Given the description of an element on the screen output the (x, y) to click on. 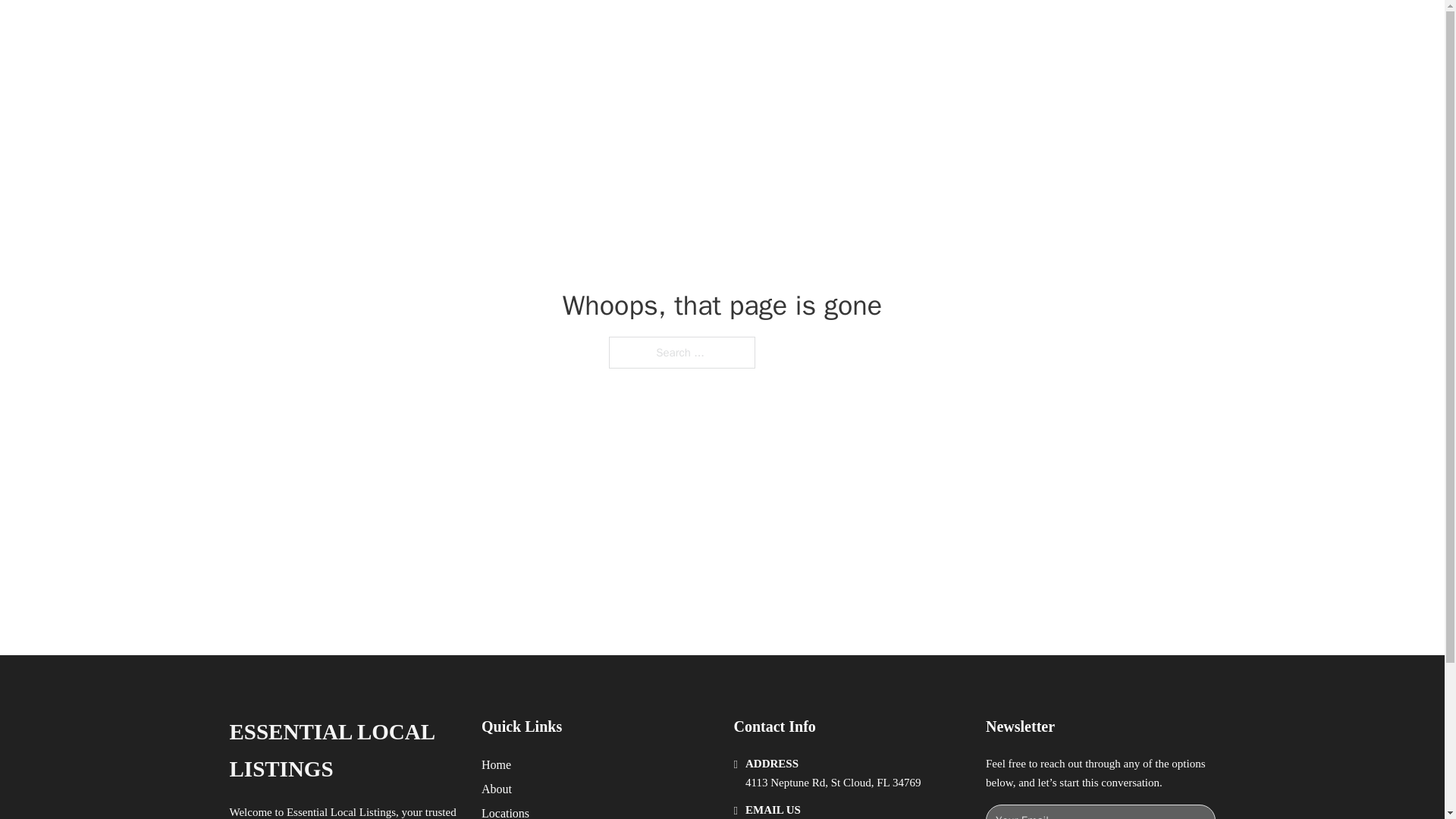
About (496, 788)
LOCATIONS (990, 29)
ESSENTIAL LOCAL LISTINGS (343, 750)
HOME (919, 29)
Home (496, 764)
Locations (505, 811)
ESSENTIAL LOCAL LISTINGS (446, 28)
